Given the description of an element on the screen output the (x, y) to click on. 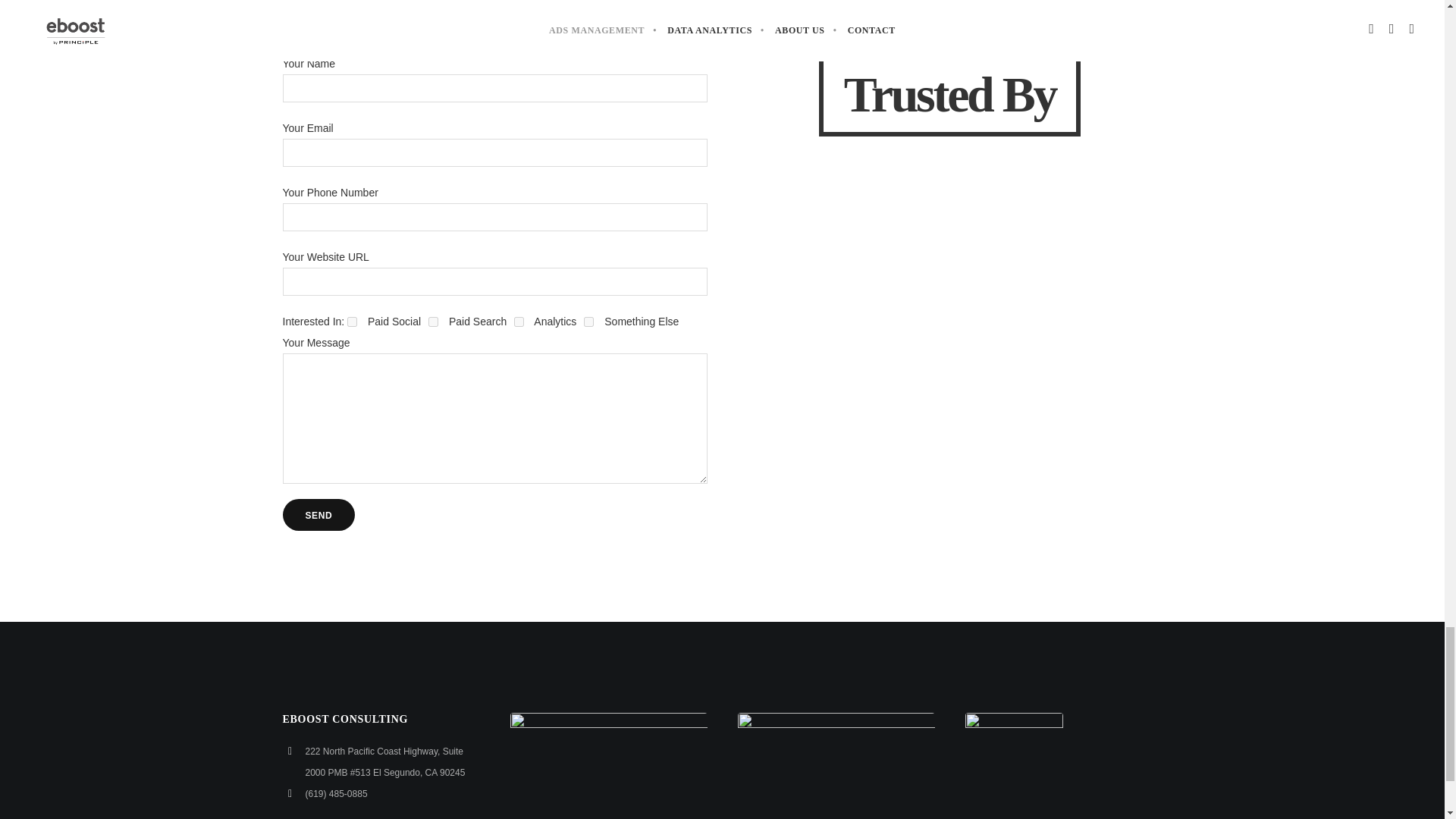
Paid Search (433, 321)
Something Else (588, 321)
Paid Social (351, 321)
Analytics (518, 321)
Send (318, 514)
